Given the description of an element on the screen output the (x, y) to click on. 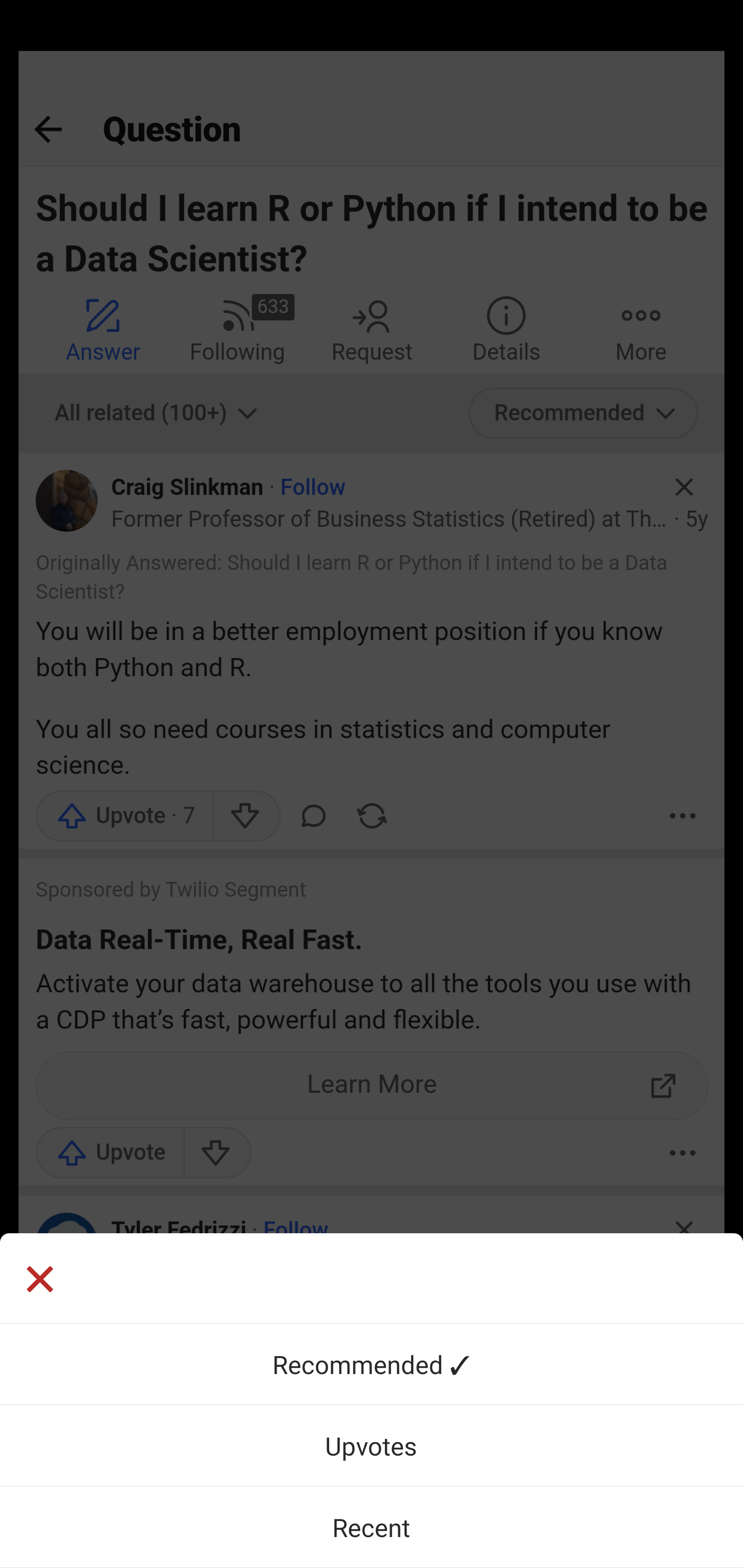
 (371, 1278)
Recommended ✓ (371, 1363)
Upvotes (371, 1445)
Recent (371, 1527)
